Given the description of an element on the screen output the (x, y) to click on. 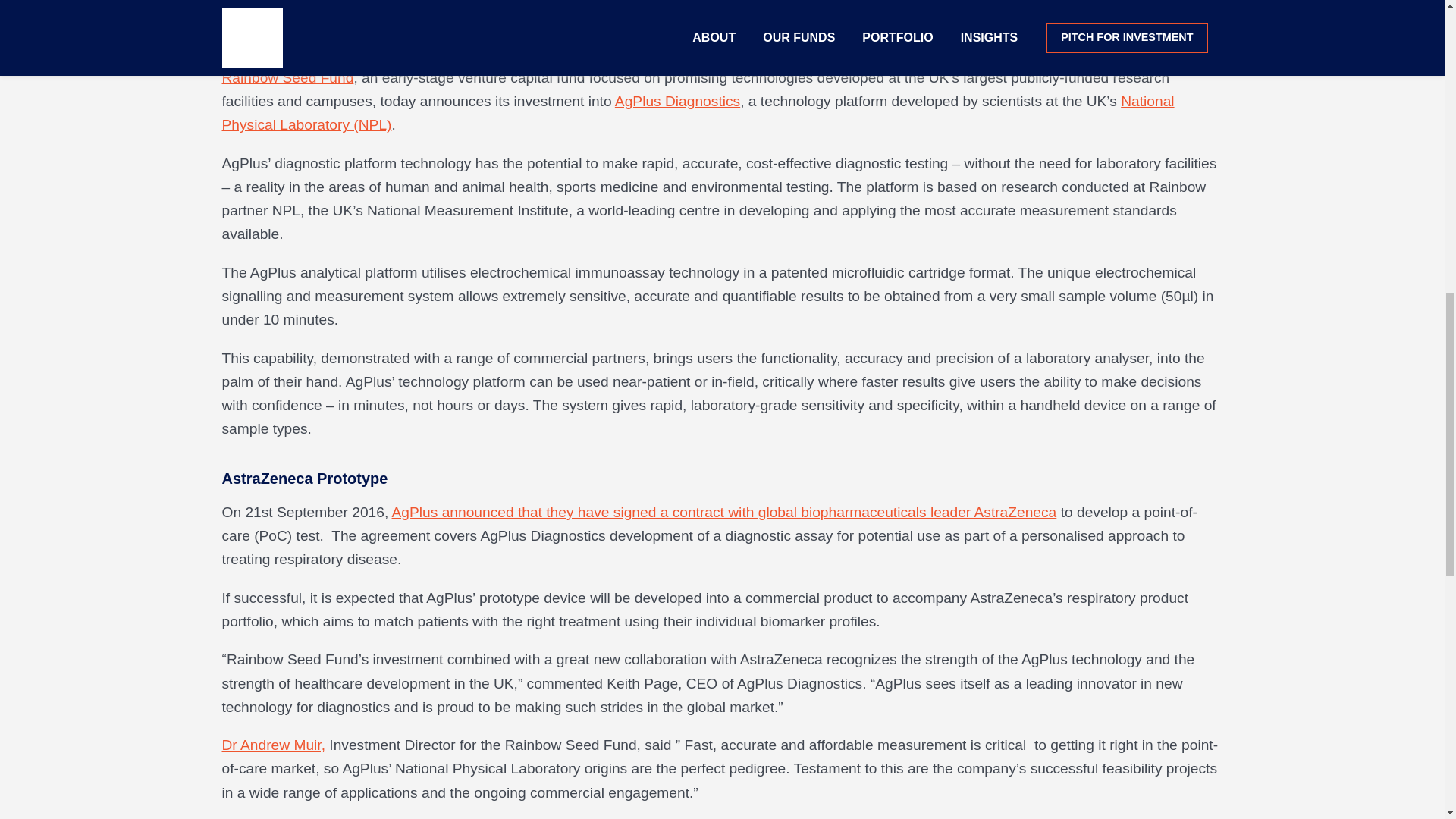
AgPlus Diagnostics (676, 100)
Rainbow Seed Fund (287, 77)
Dr Andrew Muir, (272, 744)
